Given the description of an element on the screen output the (x, y) to click on. 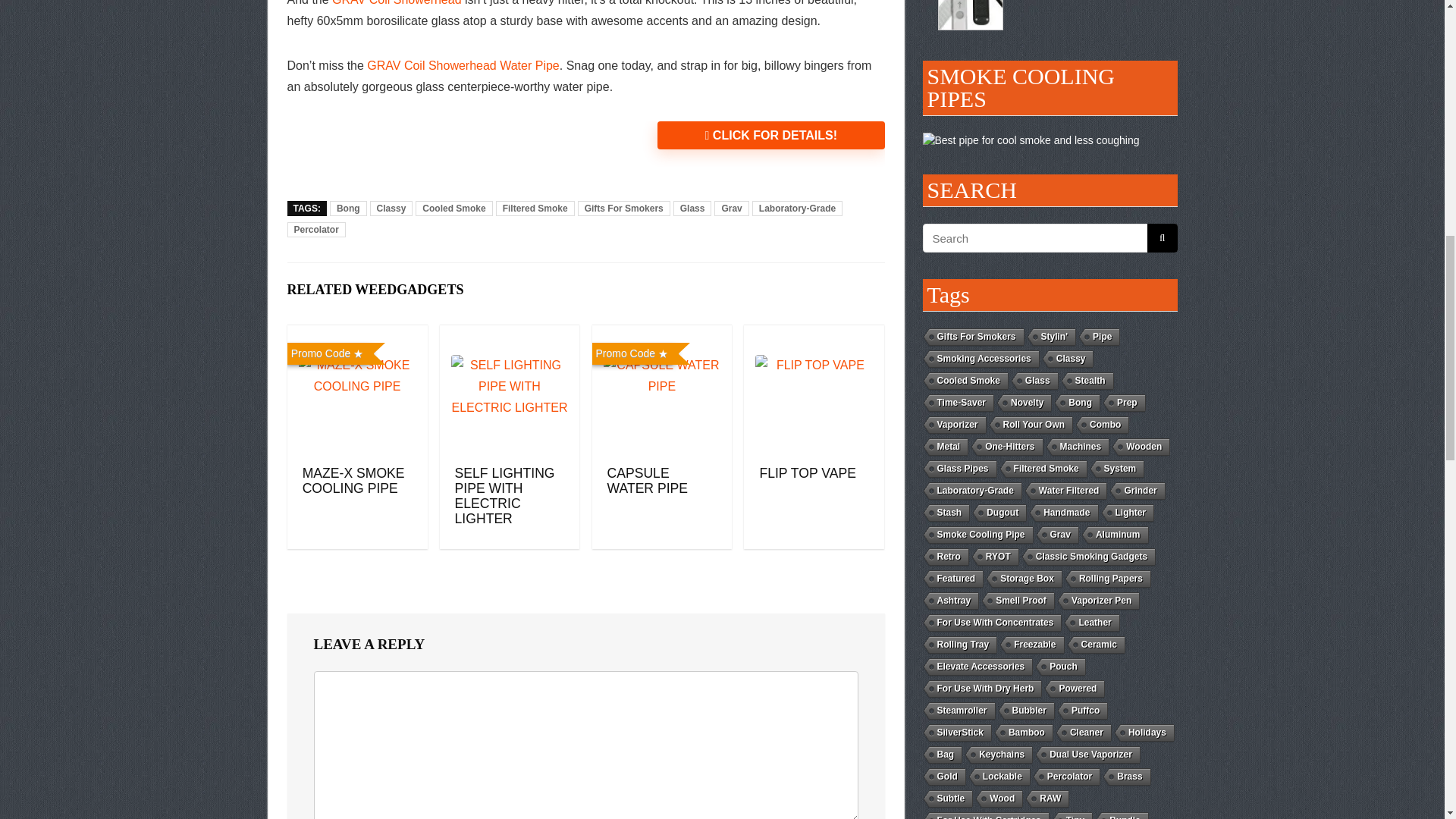
CLICK FOR DETAILS! (770, 135)
Filtered Smoke (535, 208)
Percolator (315, 229)
Classy (391, 208)
Grav (731, 208)
Cooled Smoke (453, 208)
GRAV Coil Showerhead (396, 2)
Laboratory-Grade (797, 208)
Bong (348, 208)
GRAV Coil Showerhead Water Pipe (462, 65)
Gifts For Smokers (623, 208)
GRAV Coil Showerhead Water Pipe (396, 2)
Glass (691, 208)
